Given the description of an element on the screen output the (x, y) to click on. 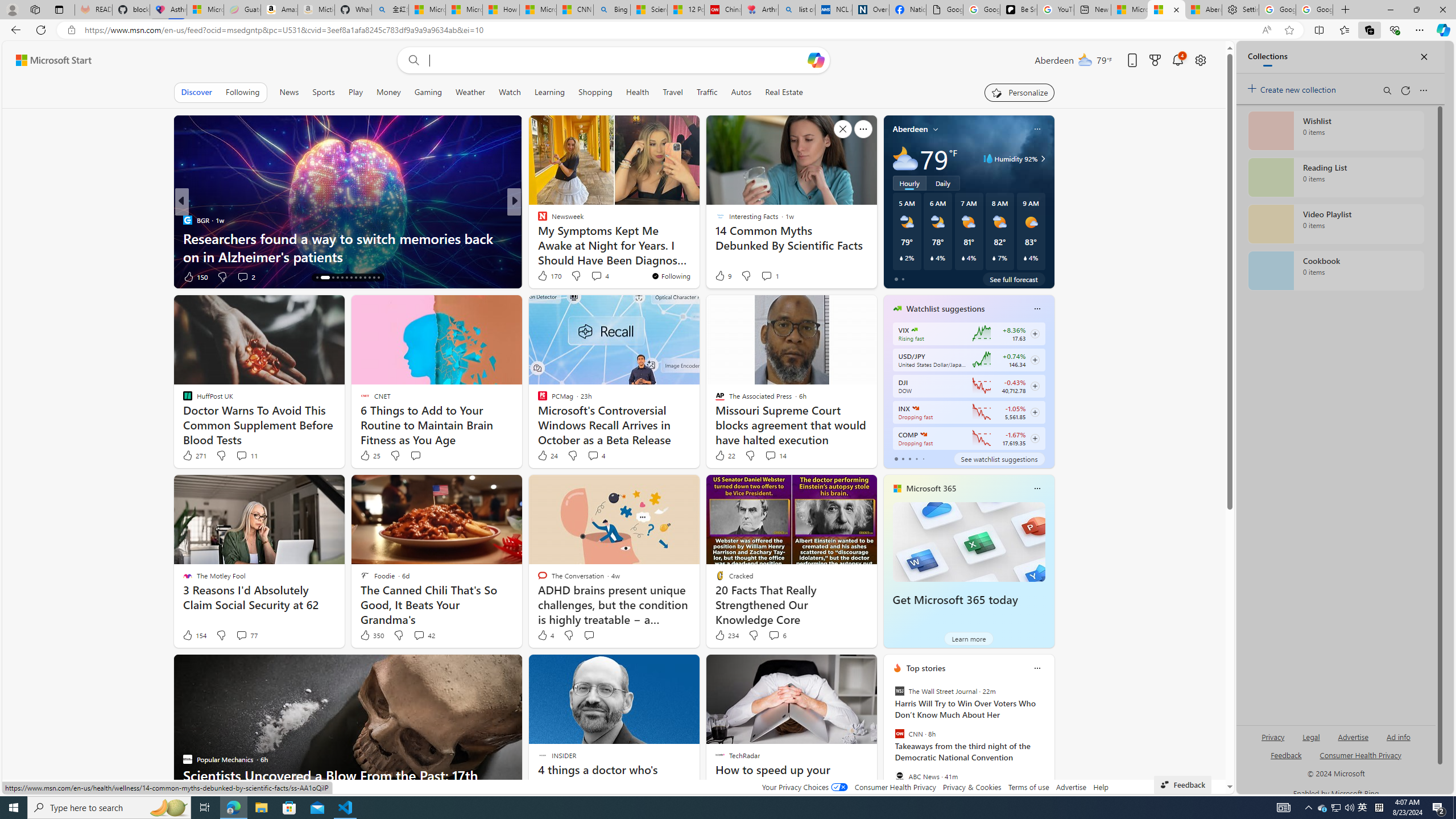
tab-0 (895, 458)
Hide this story (841, 668)
76 Like (543, 276)
AutomationID: tab-23 (364, 277)
